Given the description of an element on the screen output the (x, y) to click on. 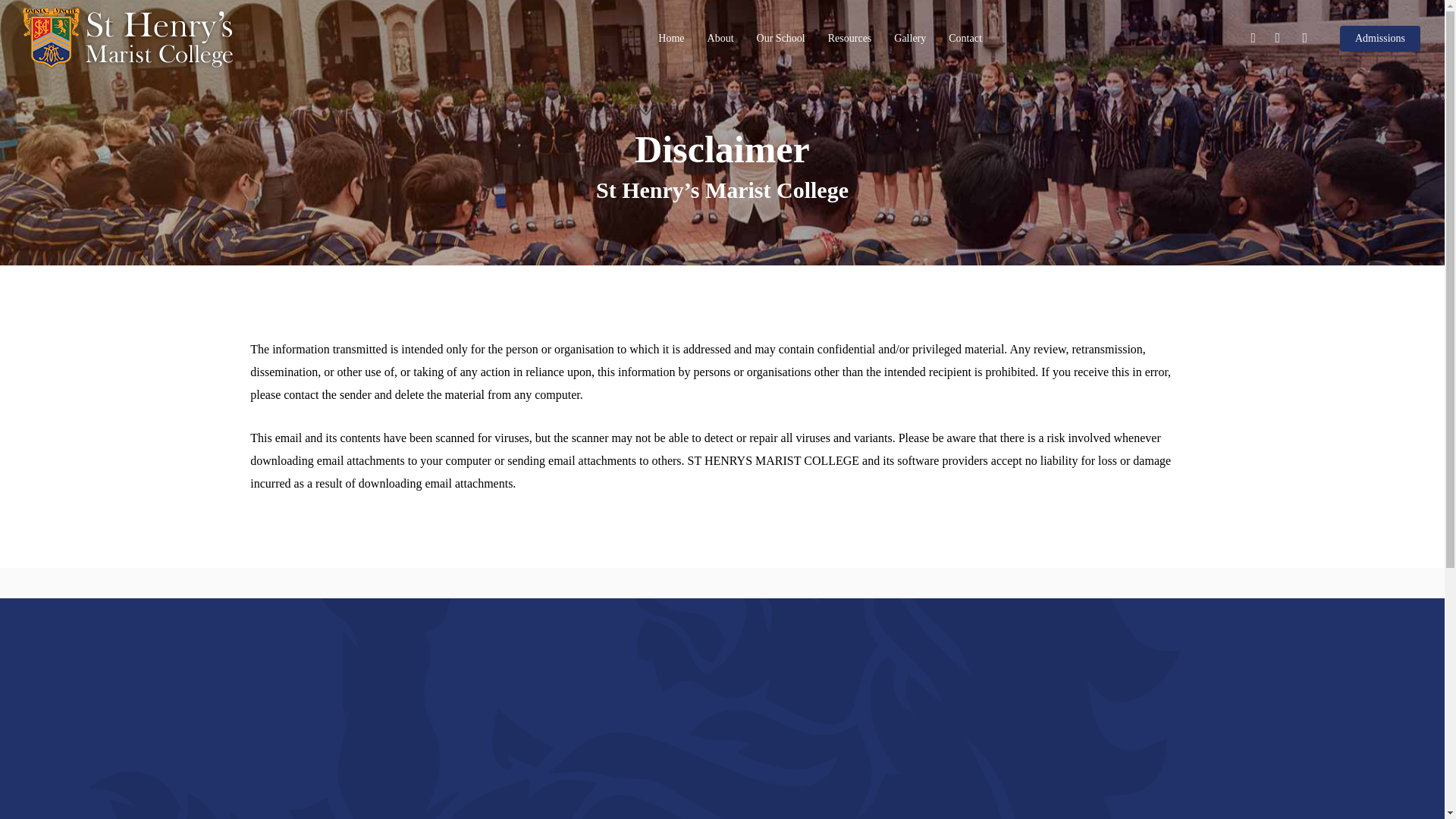
Resources (850, 38)
Home (671, 38)
Our School (781, 38)
Contact (965, 38)
Admissions (1380, 38)
Gallery (909, 38)
About (720, 38)
